Given the description of an element on the screen output the (x, y) to click on. 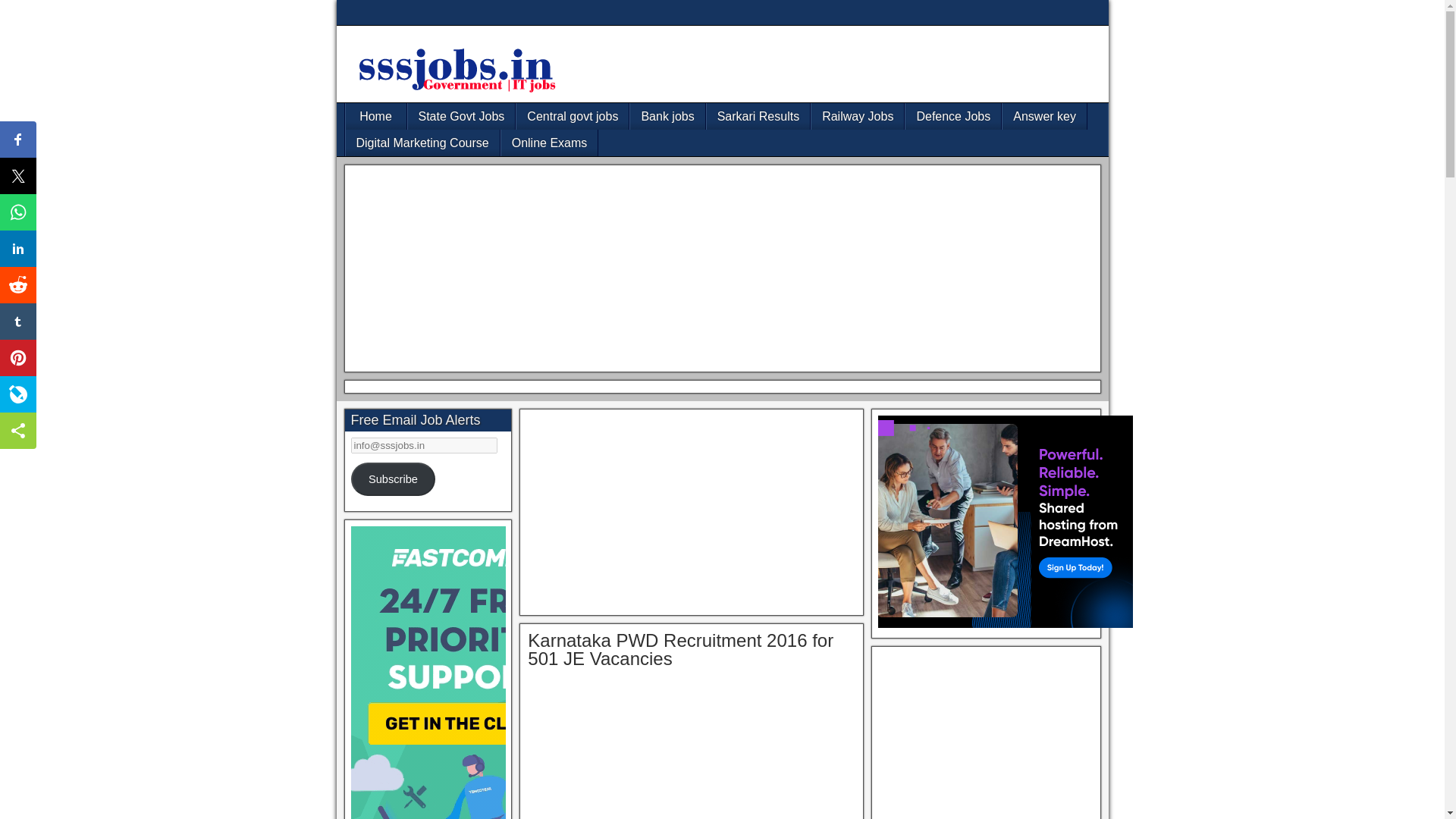
Advertisement (985, 735)
Online Exams (549, 142)
State Govt Jobs (461, 116)
Bank jobs (667, 116)
Advertisement (691, 752)
Sarkari Results (757, 116)
Railway Jobs (857, 116)
Home (376, 116)
Answer key (1044, 116)
